Given the description of an element on the screen output the (x, y) to click on. 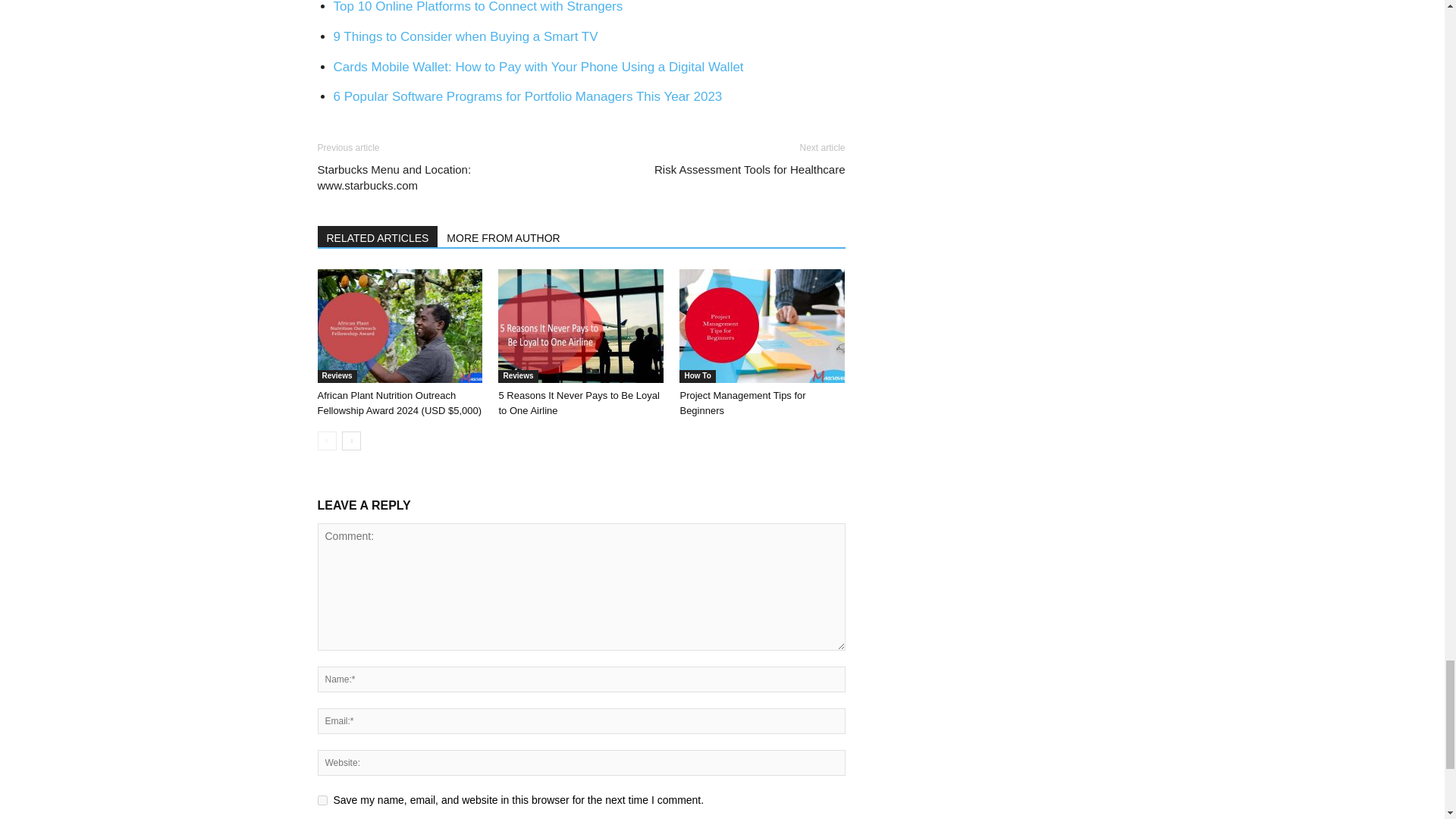
yes (321, 800)
